Given the description of an element on the screen output the (x, y) to click on. 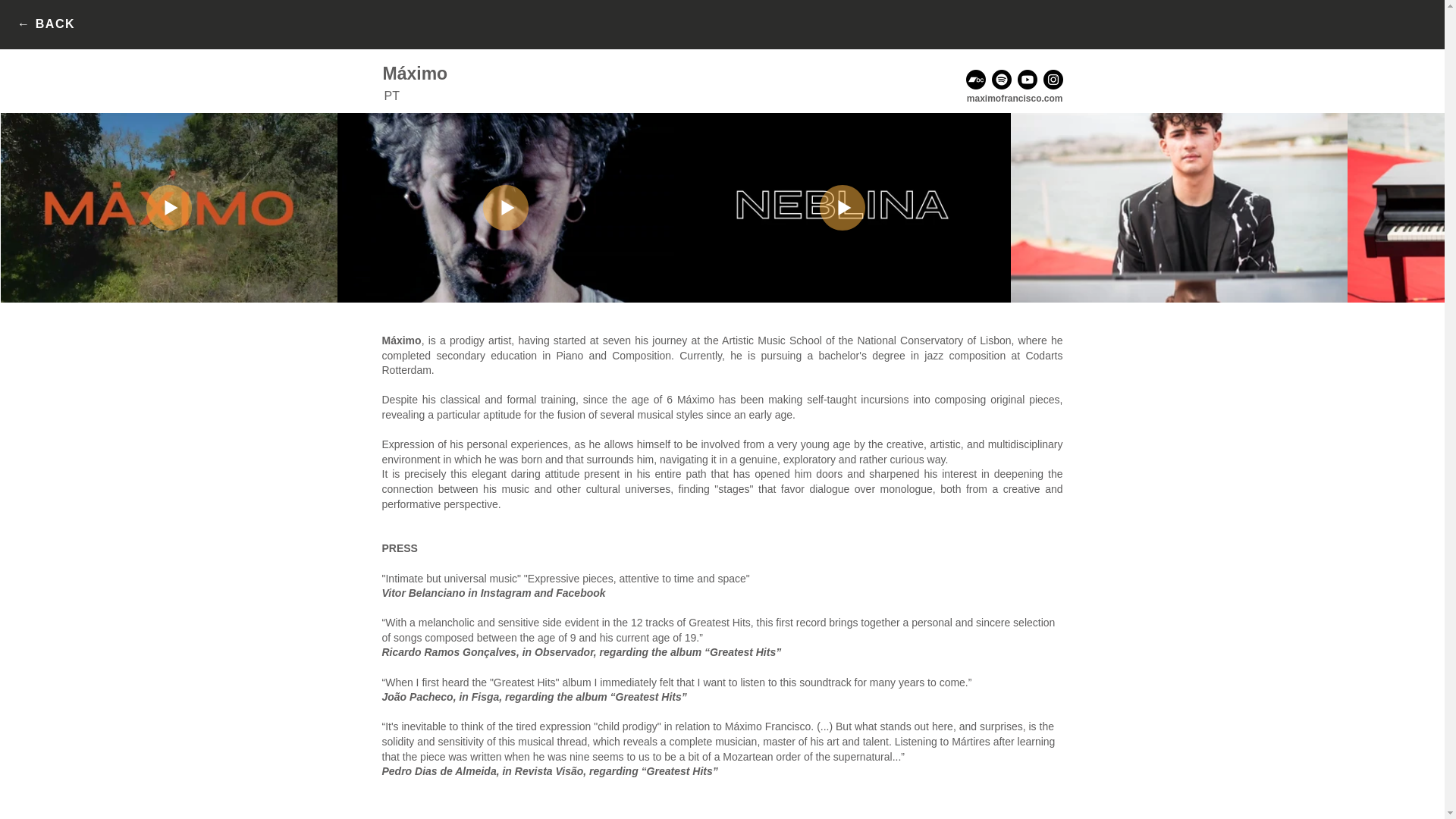
maximofrancisco.com (1014, 98)
